Given the description of an element on the screen output the (x, y) to click on. 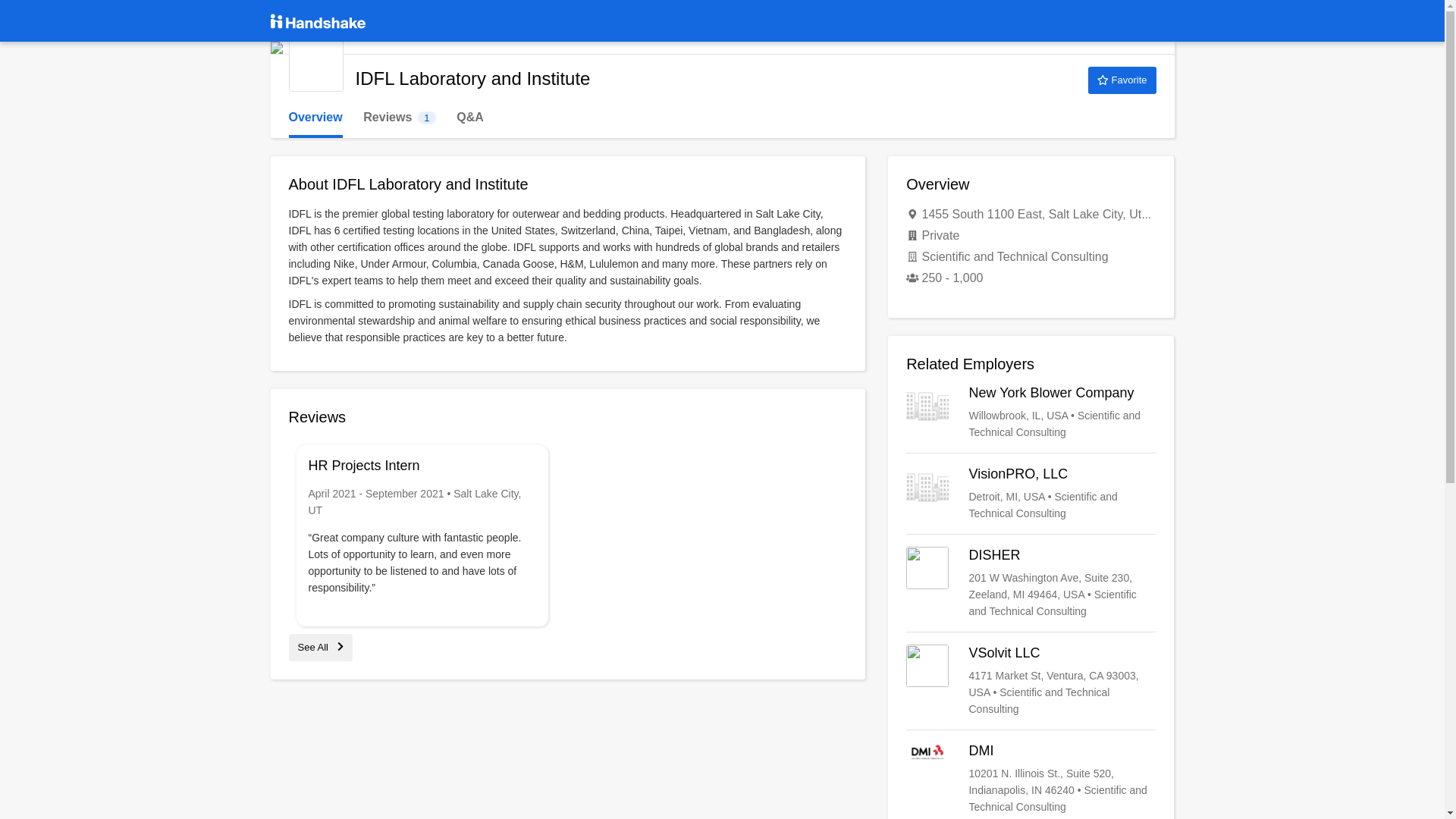
Favorite (1121, 80)
See All (320, 646)
DMI (1030, 778)
VSolvit LLC (1030, 680)
VisionPRO, LLC (1030, 493)
IDFL Laboratory and Institute (398, 117)
New York Blower Company (315, 63)
Overview (1030, 412)
DISHER (315, 117)
